Given the description of an element on the screen output the (x, y) to click on. 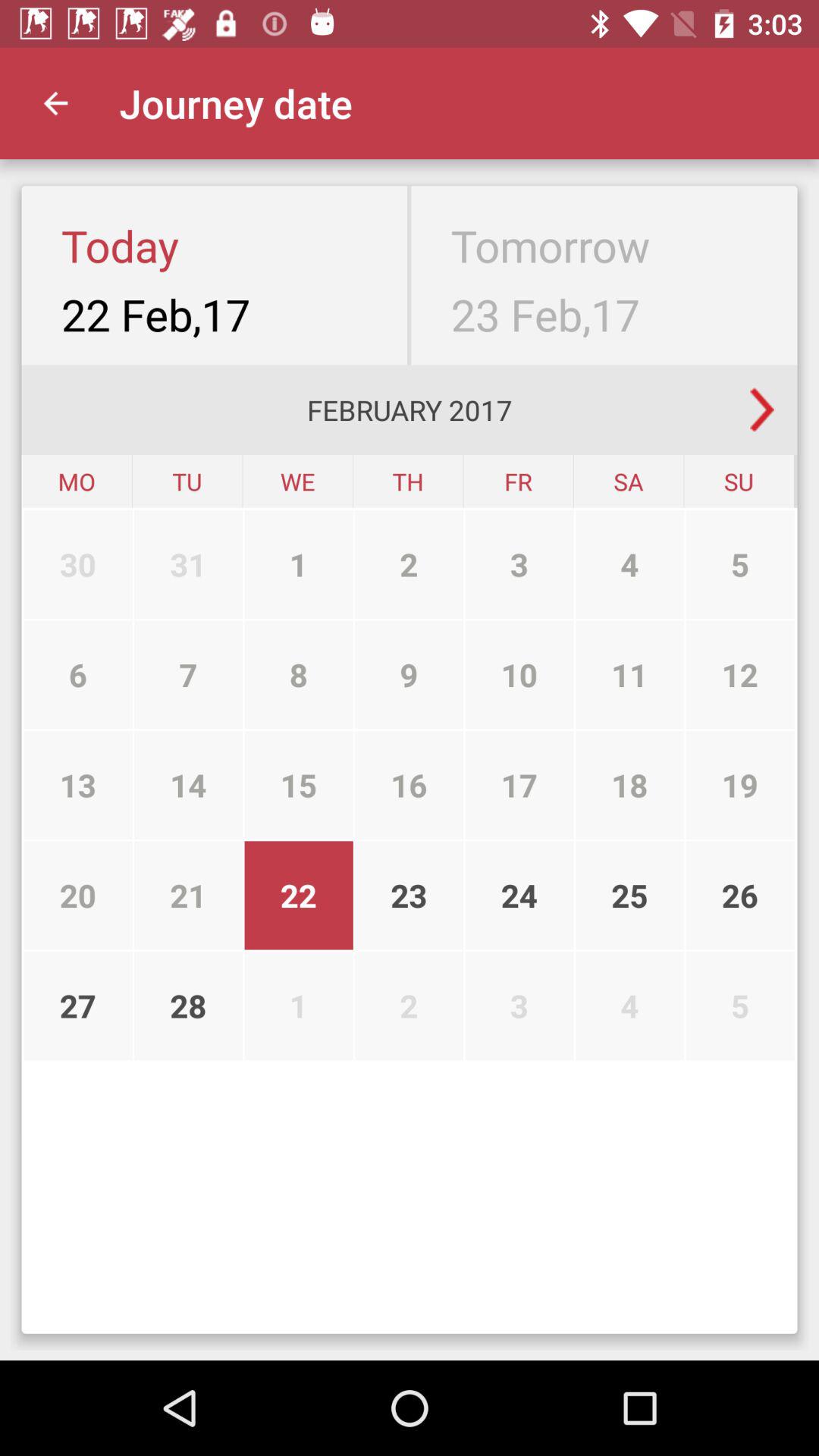
select the date as 22 (188, 895)
